Given the description of an element on the screen output the (x, y) to click on. 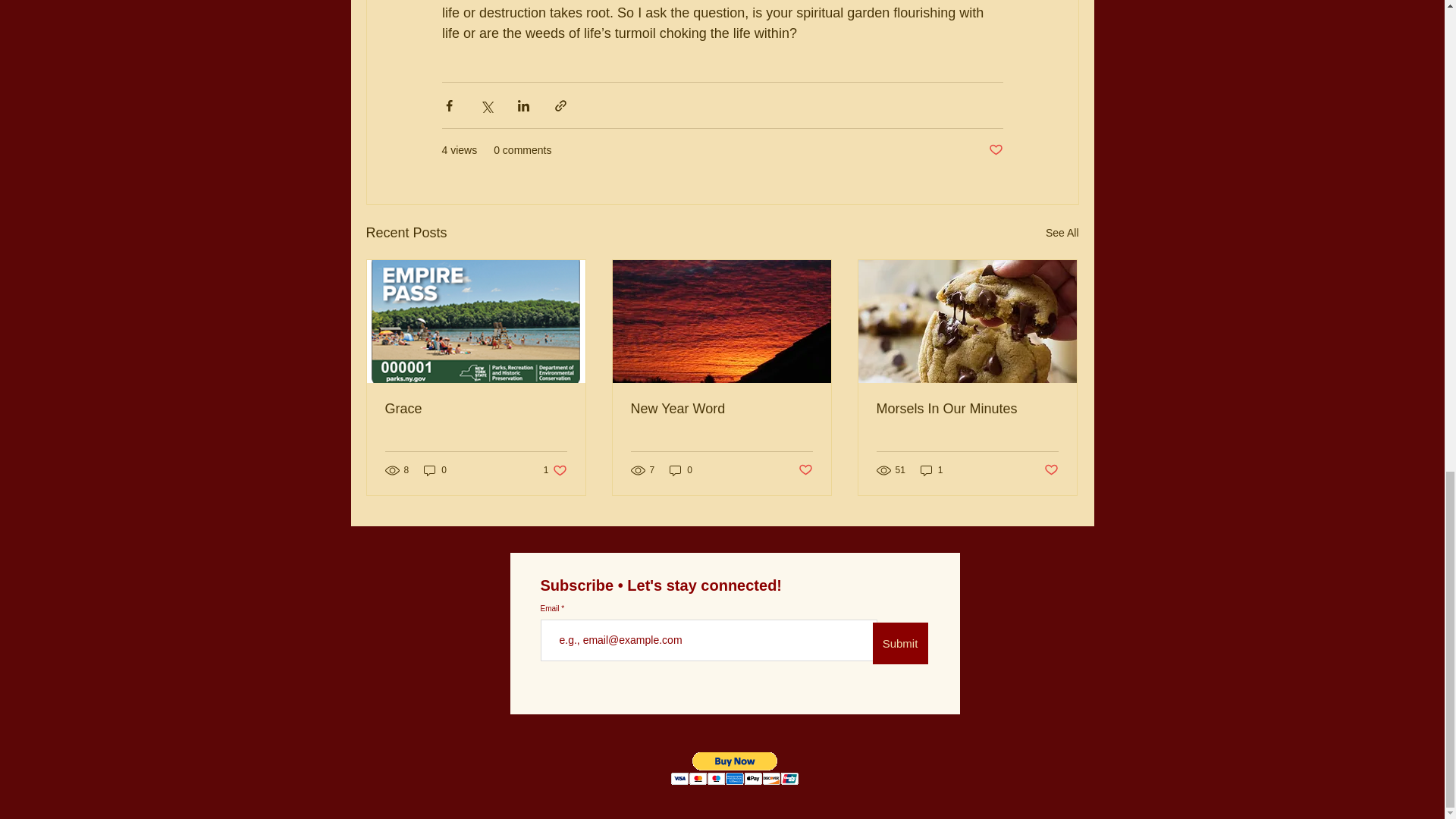
Post not marked as liked (804, 470)
Grace (476, 408)
Submit (899, 643)
0 (681, 470)
Post not marked as liked (995, 150)
Morsels In Our Minutes (967, 408)
New Year Word (721, 408)
0 (435, 470)
See All (1061, 232)
1 (931, 470)
Post not marked as liked (1050, 470)
